Given the description of an element on the screen output the (x, y) to click on. 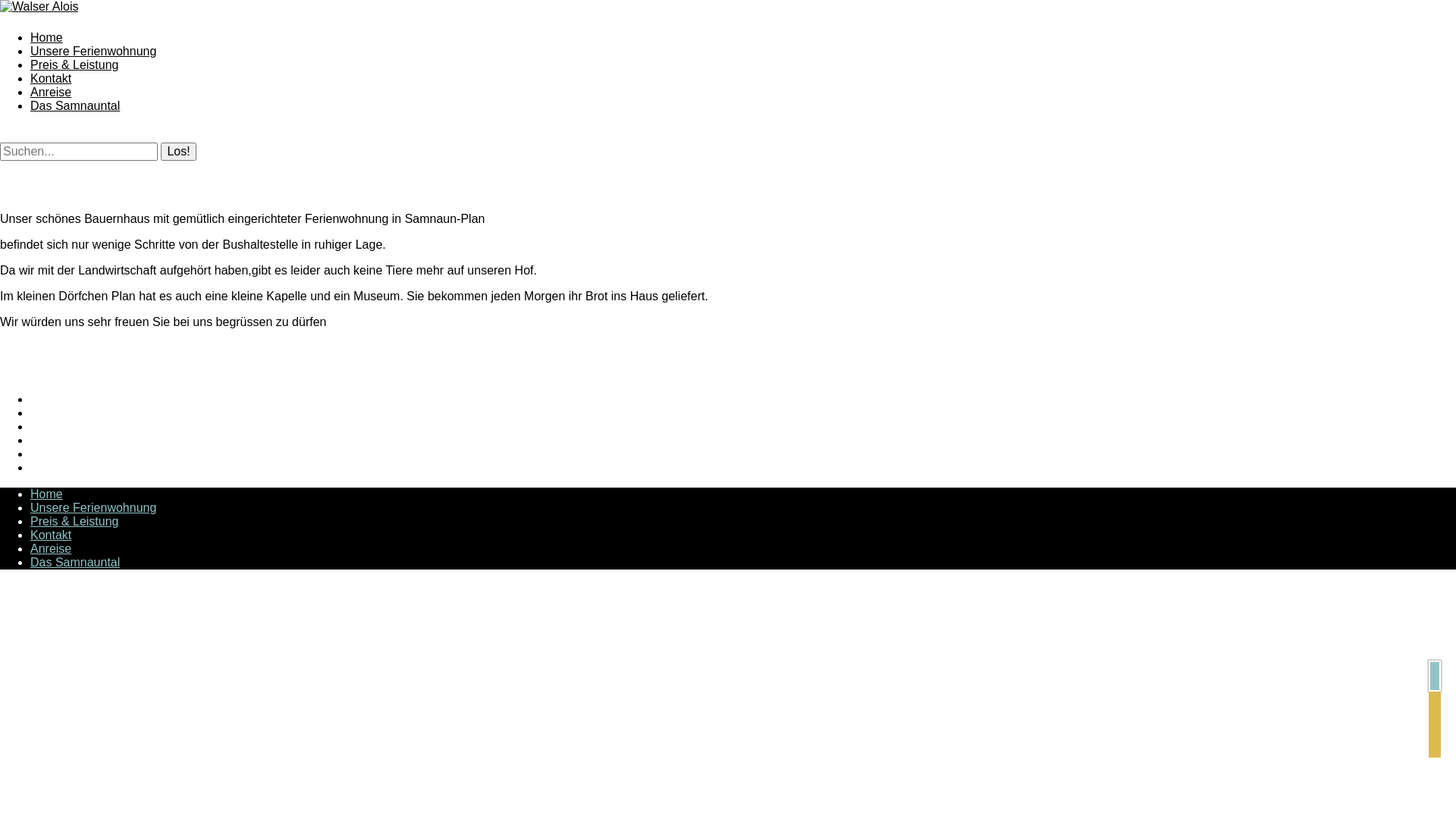
Home Element type: text (46, 37)
Das Samnauntal Element type: text (74, 105)
Home Element type: text (46, 493)
Kontakt Element type: text (50, 534)
Preis & Leistung Element type: text (74, 64)
Das Samnauntal Element type: text (74, 561)
Anreise Element type: text (50, 91)
Unsere Ferienwohnung Element type: text (93, 507)
Rufen Sie uns an! Element type: text (1434, 702)
Unsere Ferienwohnung Element type: text (93, 50)
Auf der Karte anzeigen Element type: text (1434, 724)
+ Element type: text (1434, 676)
Senden Sie uns eine E-Mail Element type: text (1434, 746)
Anreise Element type: text (50, 548)
Los! Element type: text (177, 151)
Kontakt Element type: text (50, 78)
Preis & Leistung Element type: text (74, 520)
